Given the description of an element on the screen output the (x, y) to click on. 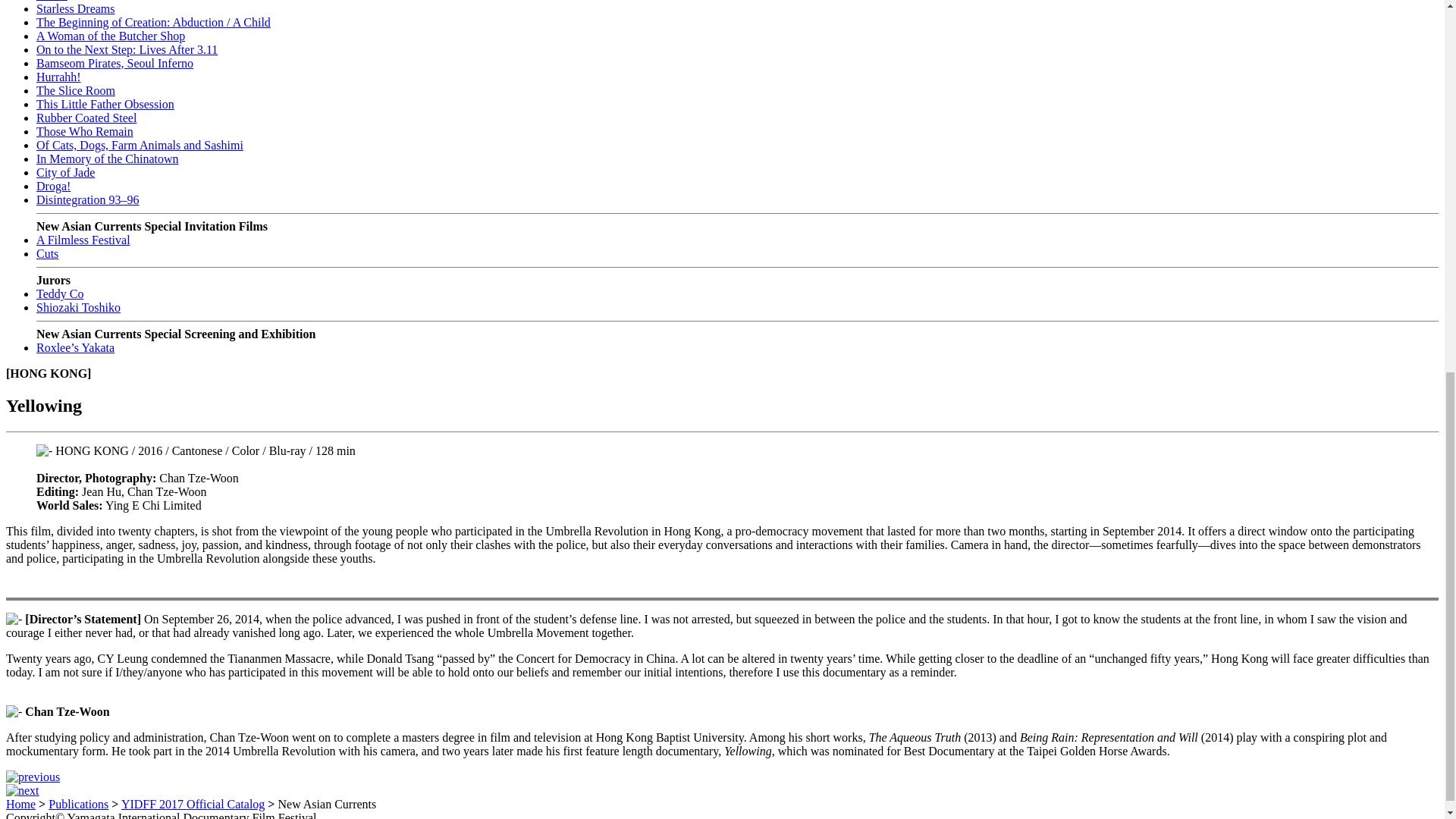
Starless Dreams (75, 8)
next (22, 789)
previous (32, 776)
Nokas (51, 0)
